Given the description of an element on the screen output the (x, y) to click on. 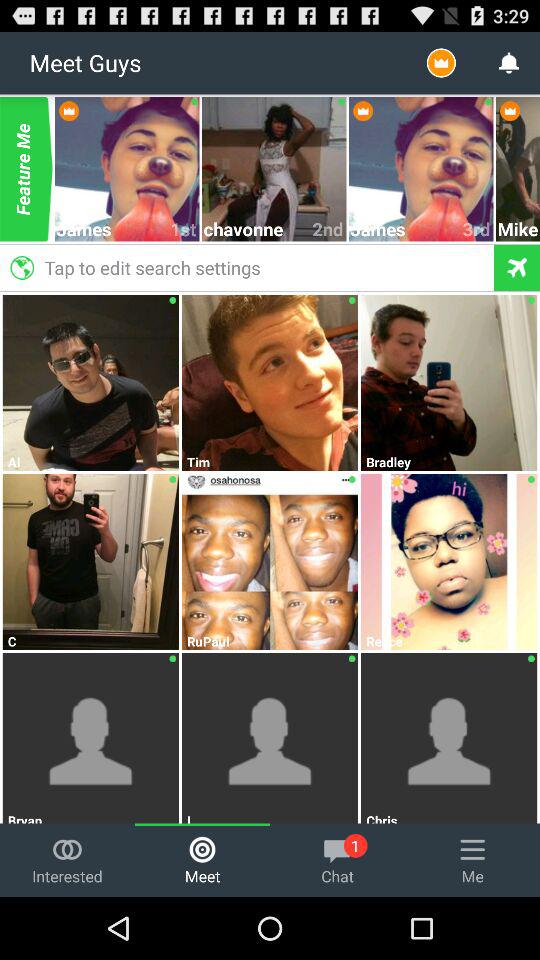
jump to the l (270, 817)
